Given the description of an element on the screen output the (x, y) to click on. 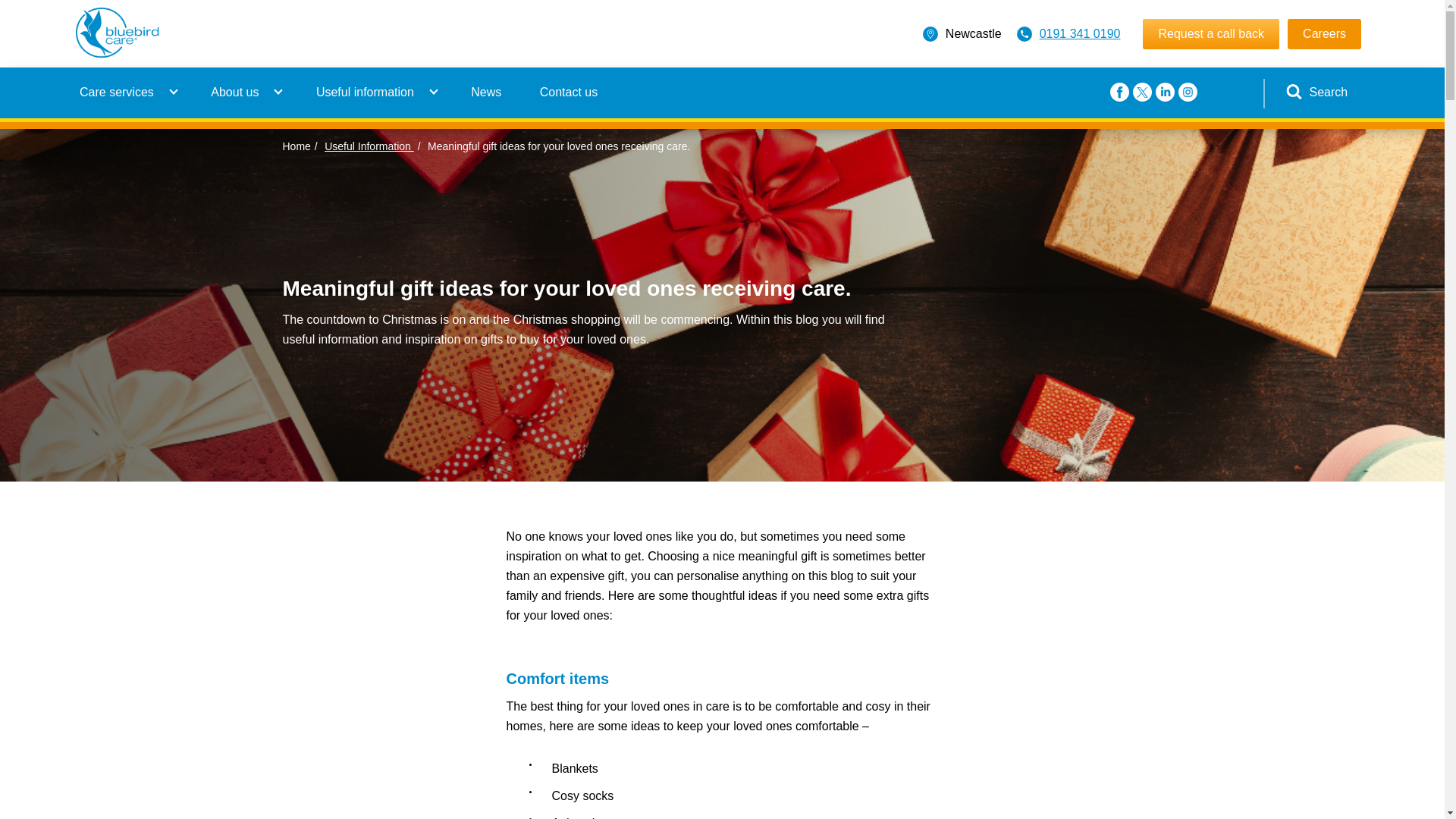
0191 341 0190 (1080, 33)
Careers (1324, 33)
Request a call back (1210, 33)
